Given the description of an element on the screen output the (x, y) to click on. 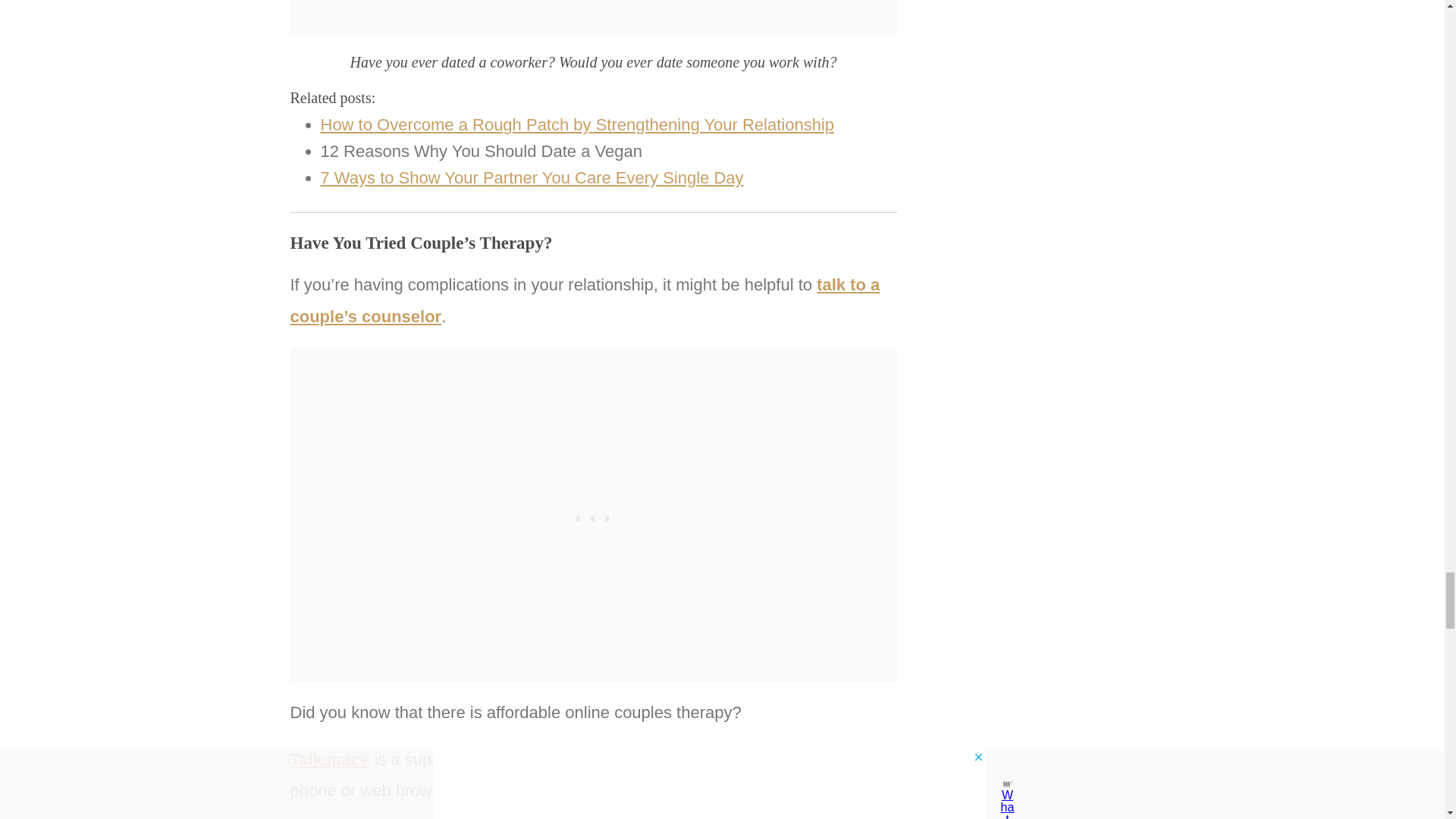
Talkspace (329, 759)
7 Ways to Show Your Partner You Care Every Single Day (531, 177)
